Given the description of an element on the screen output the (x, y) to click on. 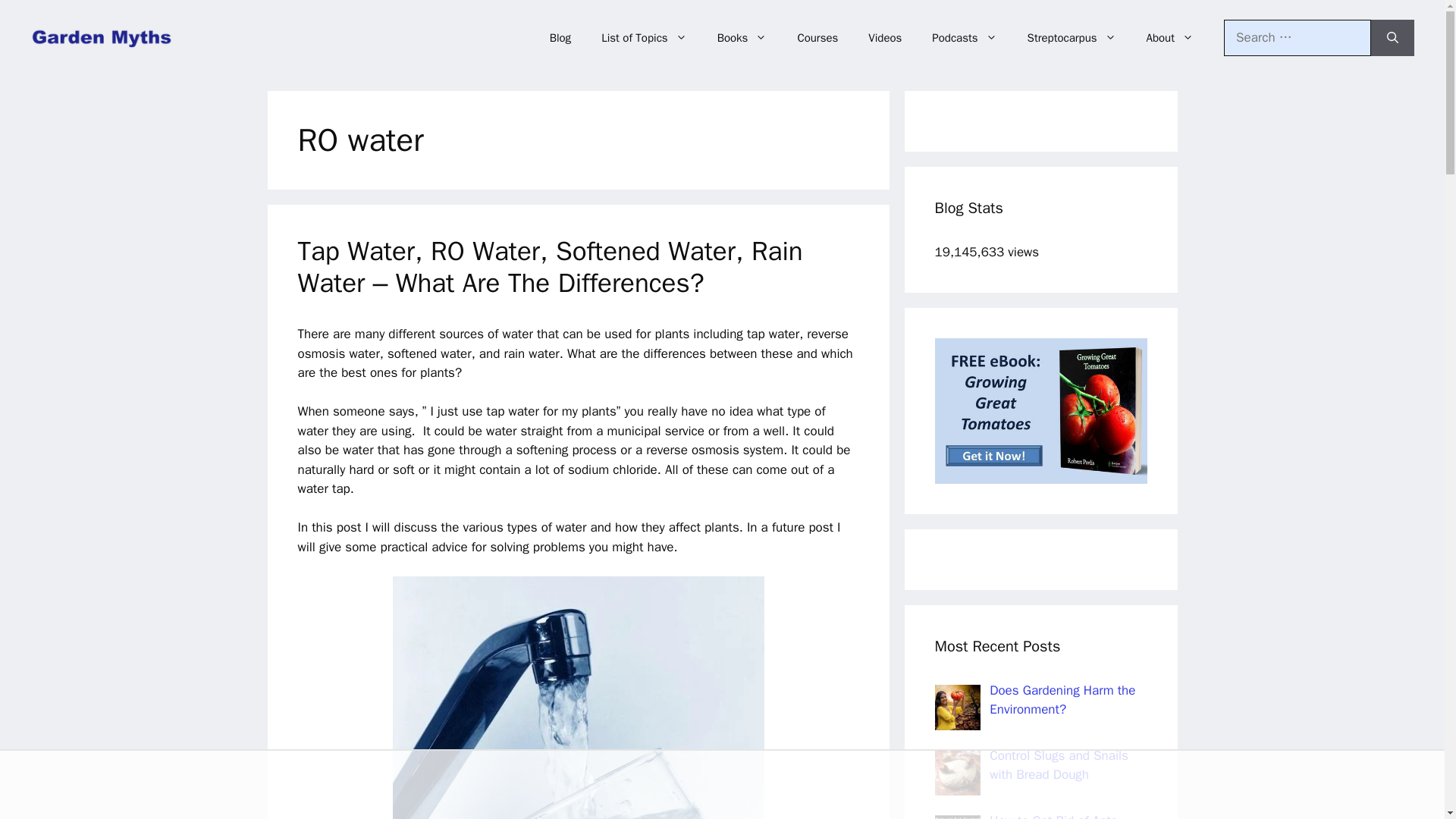
Courses (817, 37)
Videos (885, 37)
Background information for Garden Myths (1169, 37)
Blog (560, 37)
Streptocarpus (1071, 37)
Books written by Robert Pavlis (742, 37)
Search for: (1297, 37)
Podcasts (964, 37)
About (1169, 37)
Books (742, 37)
List of Topics (643, 37)
